Given the description of an element on the screen output the (x, y) to click on. 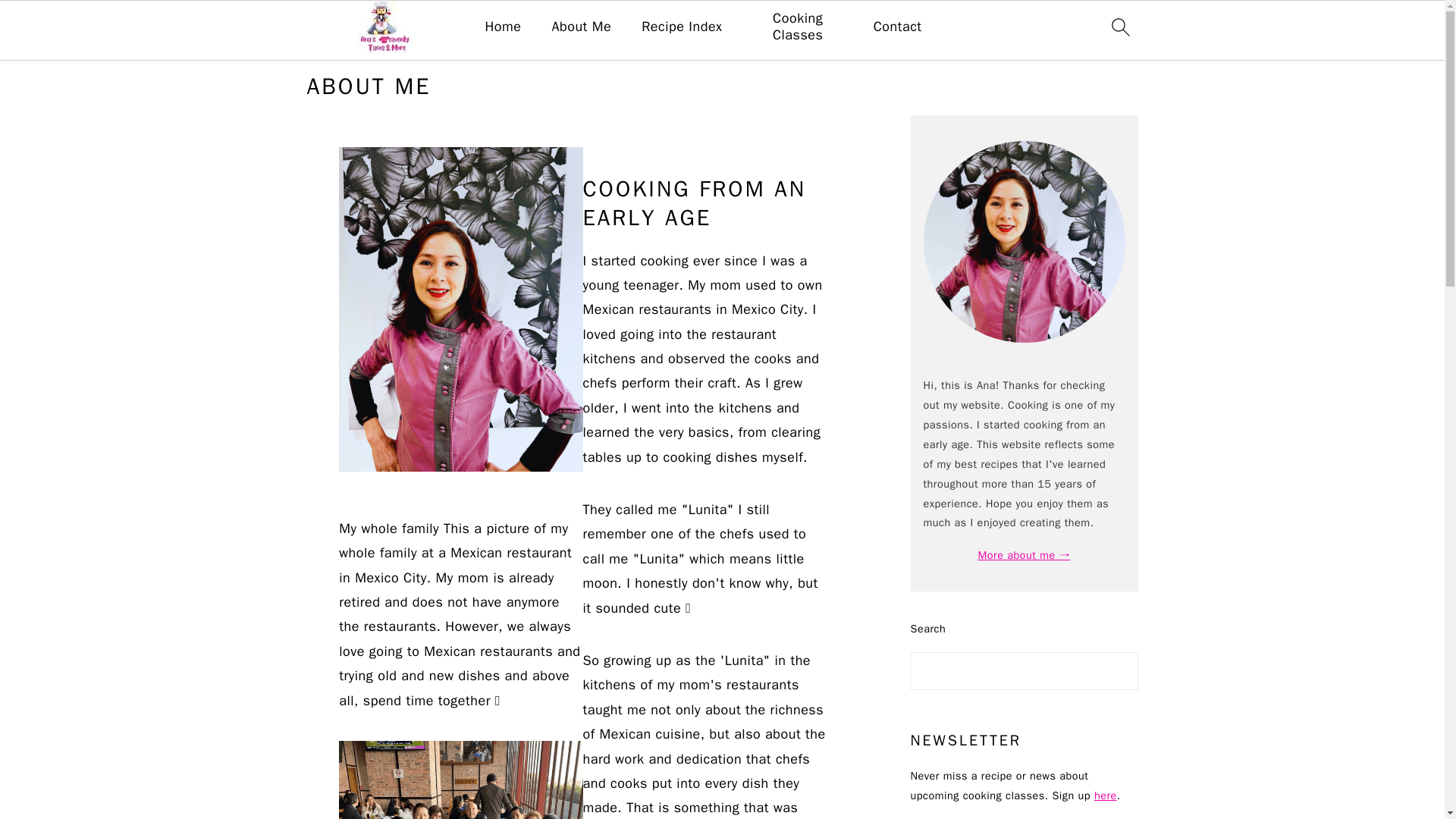
Contact (897, 27)
Home (502, 27)
search icon (1119, 26)
Recipe Index (682, 27)
Cooking Classes (797, 26)
About Me (581, 27)
